Given the description of an element on the screen output the (x, y) to click on. 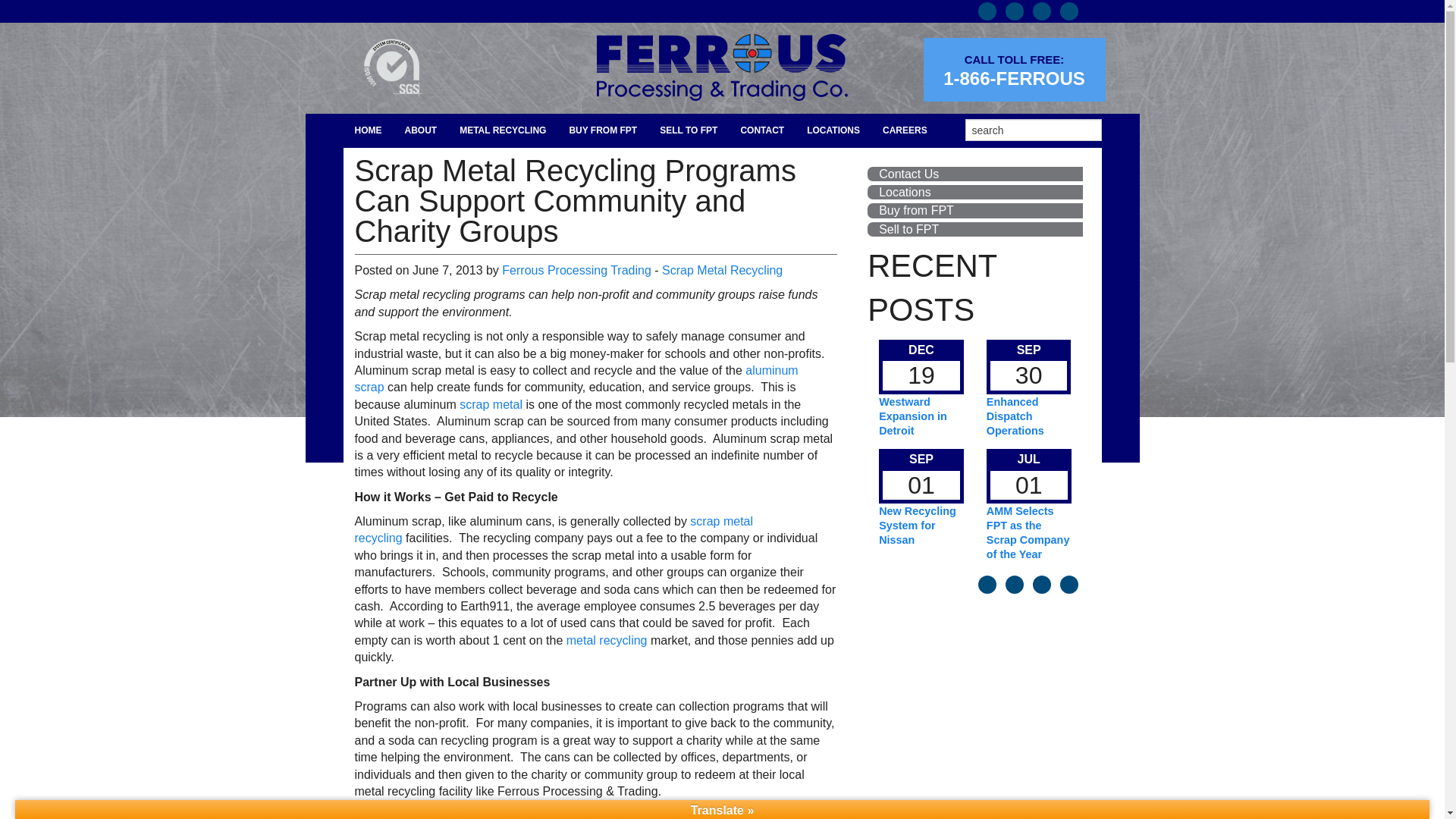
MISSION, VISION AND CORE VALUES (420, 198)
FINANCIAL STRENGTH (420, 267)
CONTACT US (761, 198)
Selling Scrap Metal at Scrap Metal Yards (909, 228)
NON-FERROUS METALS (502, 198)
search (1031, 129)
BUYING INFO (602, 164)
FPT HEADQUARTERS (761, 164)
ENVIRONMENTAL AND QUALITY (502, 335)
MICHIGAN (832, 164)
SELL TO FPT (688, 130)
COMPANY HISTORY (420, 233)
NON-FERROUS CONTACTS (688, 233)
BUY FROM FPT (602, 130)
OHIO (832, 233)
